Given the description of an element on the screen output the (x, y) to click on. 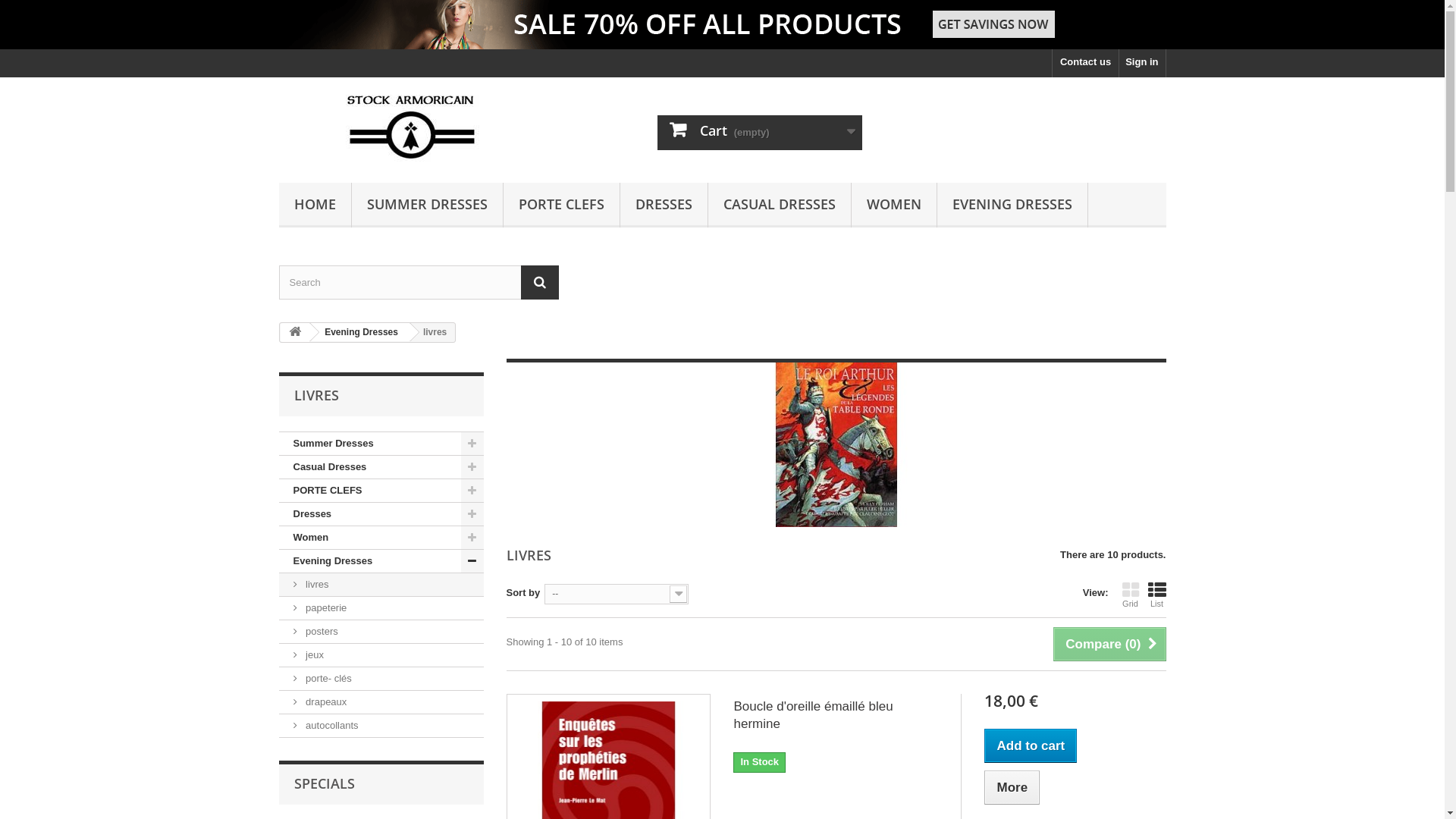
Sign in Element type: text (1141, 63)
Grid Element type: text (1130, 594)
PORTE CLEFS Element type: text (381, 490)
Women Element type: text (381, 537)
Dresses Element type: text (381, 514)
SUMMER DRESSES Element type: text (426, 204)
PORTE CLEFS Element type: text (561, 204)
DRESSES Element type: text (663, 204)
posters Element type: text (381, 631)
Add to cart Element type: text (1030, 745)
List Element type: text (1157, 594)
livres Element type: text (381, 584)
drapeaux Element type: text (381, 702)
Summer Dresses Element type: text (381, 443)
autocollants Element type: text (381, 725)
papeterie Element type: text (381, 608)
jeux Element type: text (381, 655)
Evening Dresses Element type: text (358, 332)
CASUAL DRESSES Element type: text (779, 204)
More Element type: text (1011, 787)
Evening Dresses Element type: text (381, 561)
Contact us Element type: text (1085, 63)
Compare (0) Element type: text (1109, 644)
HOME Element type: text (315, 204)
Return to Home Element type: hover (294, 332)
WOMEN Element type: text (892, 204)
SPECIALS Element type: text (324, 783)
Cart (empty) Element type: text (759, 132)
EVENING DRESSES Element type: text (1012, 204)
Casual Dresses Element type: text (381, 467)
STOCK ARMORICAIN Element type: hover (419, 125)
